Given the description of an element on the screen output the (x, y) to click on. 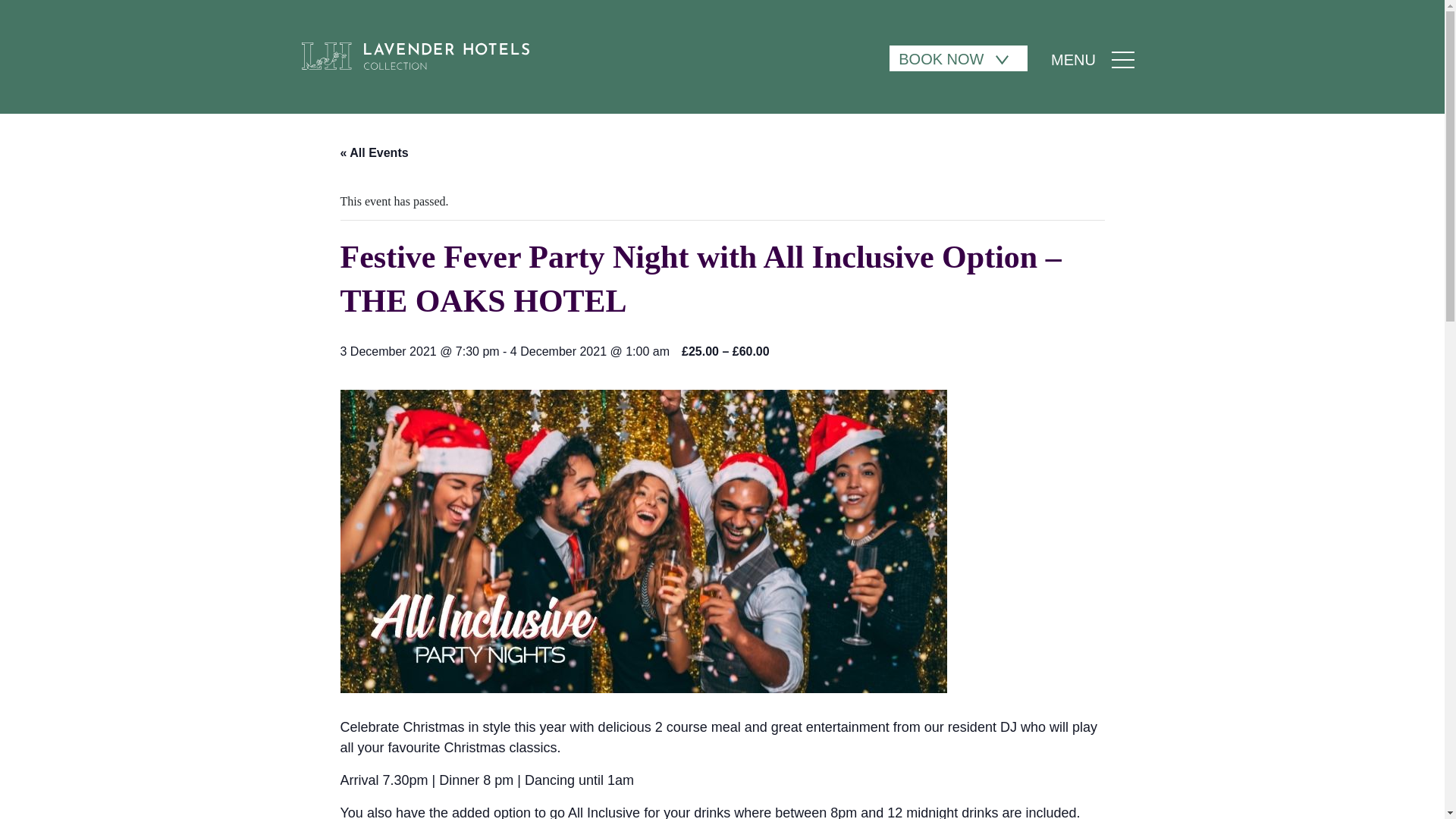
BOOK NOW (958, 58)
BOOK NOW (941, 58)
MENU (1097, 60)
